Given the description of an element on the screen output the (x, y) to click on. 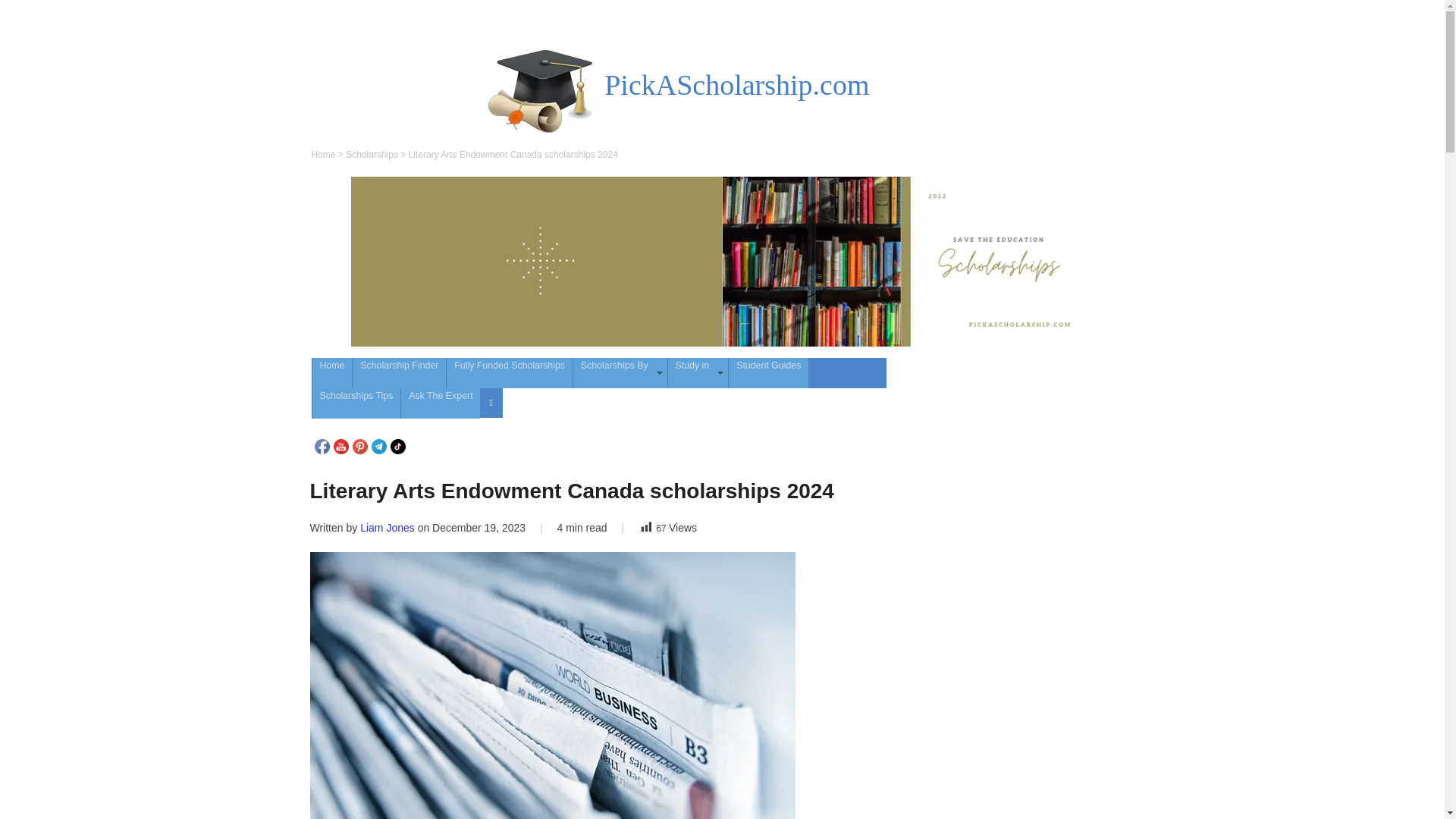
Go to PickAScholarship.com. (322, 154)
Home (332, 372)
PickAScholarship.com (736, 84)
Scholarship Finder (398, 372)
Tiktok (397, 446)
YouTube (341, 446)
Scholarships (371, 154)
Go to Scholarships. (371, 154)
Scholarships By (619, 372)
Home (322, 154)
